Given the description of an element on the screen output the (x, y) to click on. 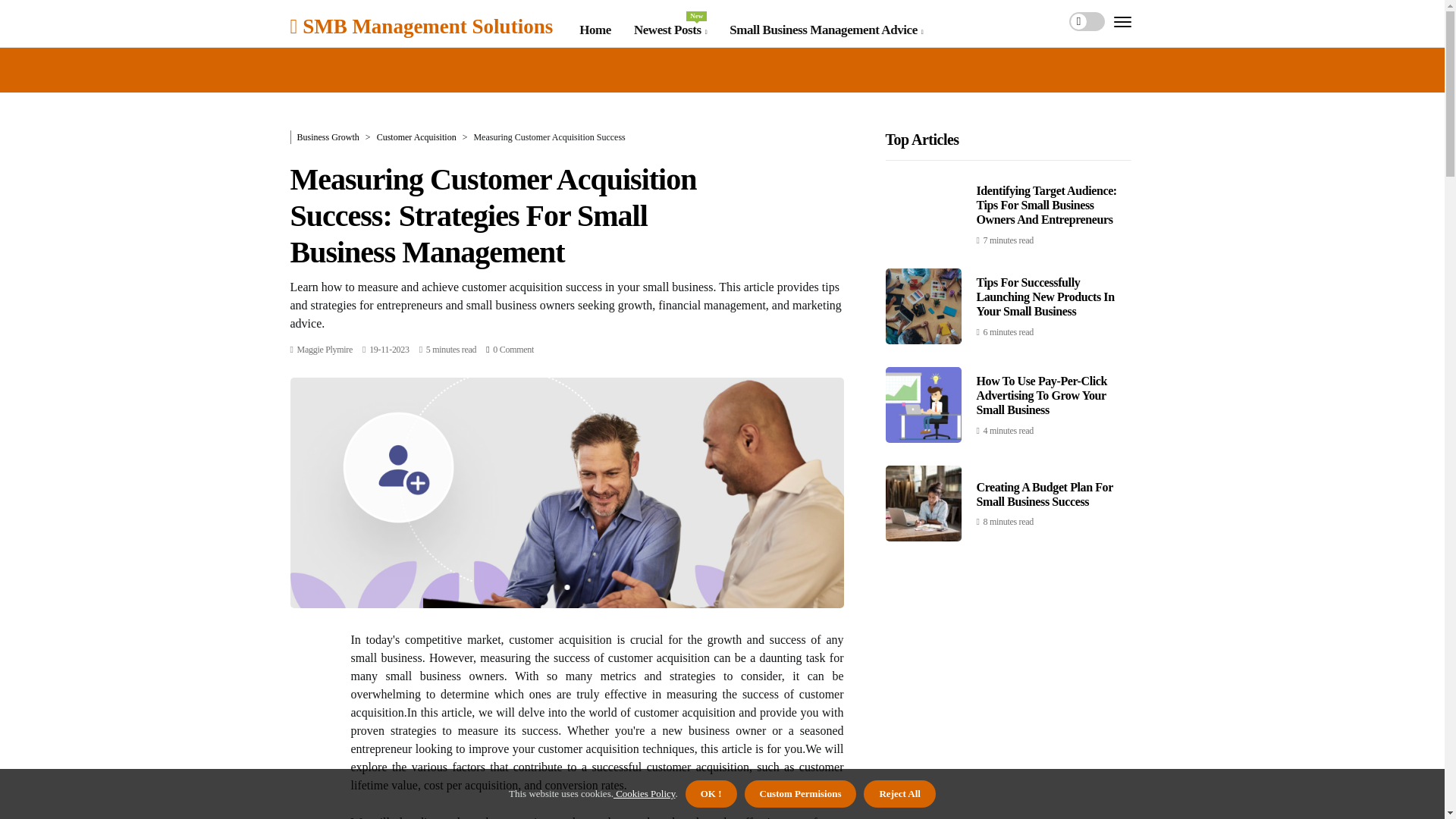
Posts by Maggie Plymire (324, 348)
SMB Management Solutions (669, 30)
Small Business Management Advice (421, 26)
